Given the description of an element on the screen output the (x, y) to click on. 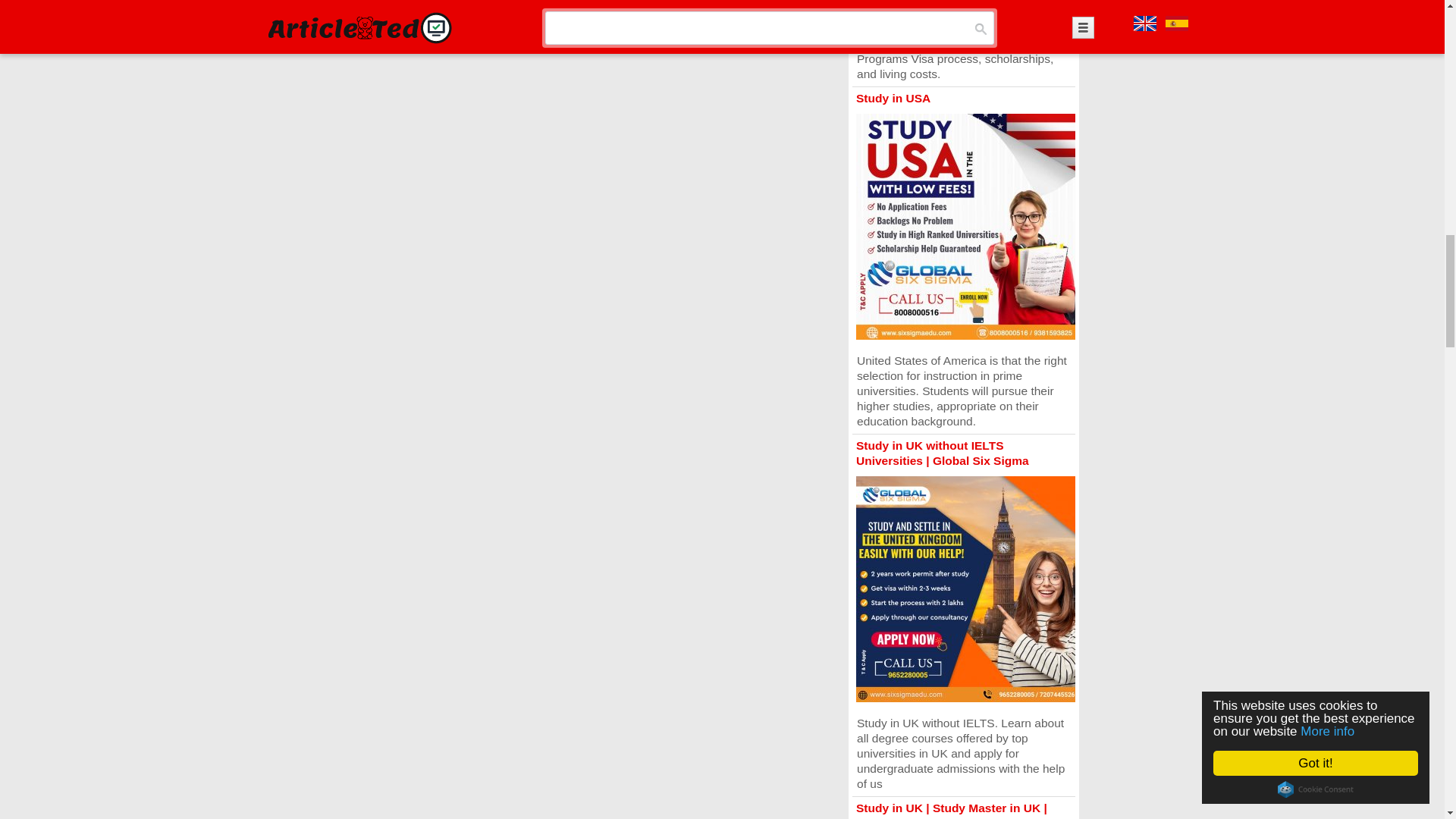
Study in USA (893, 97)
